Given the description of an element on the screen output the (x, y) to click on. 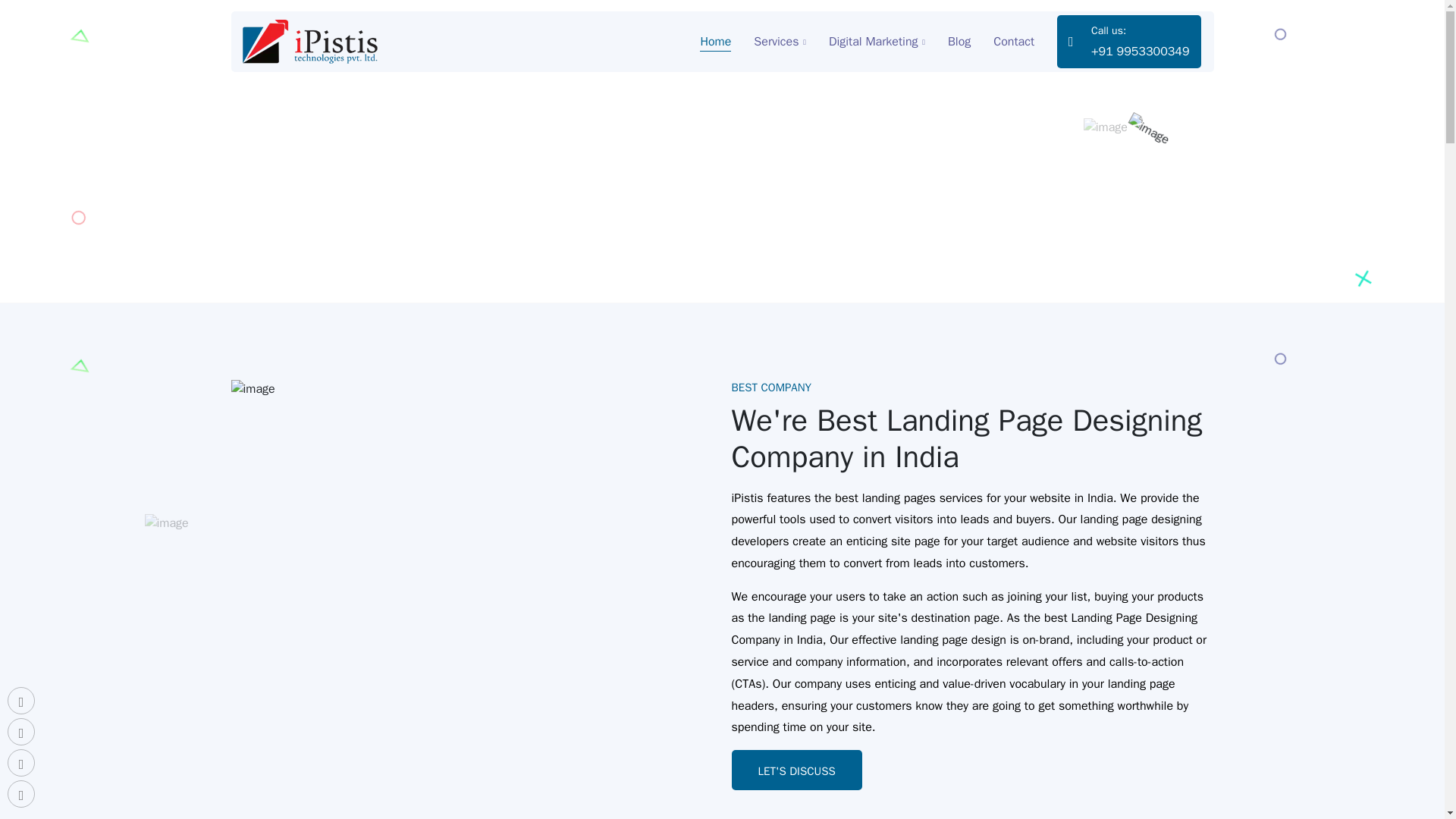
Digital Marketing (876, 40)
Services (780, 40)
Home (715, 40)
Contact (1012, 40)
Blog (959, 40)
